Given the description of an element on the screen output the (x, y) to click on. 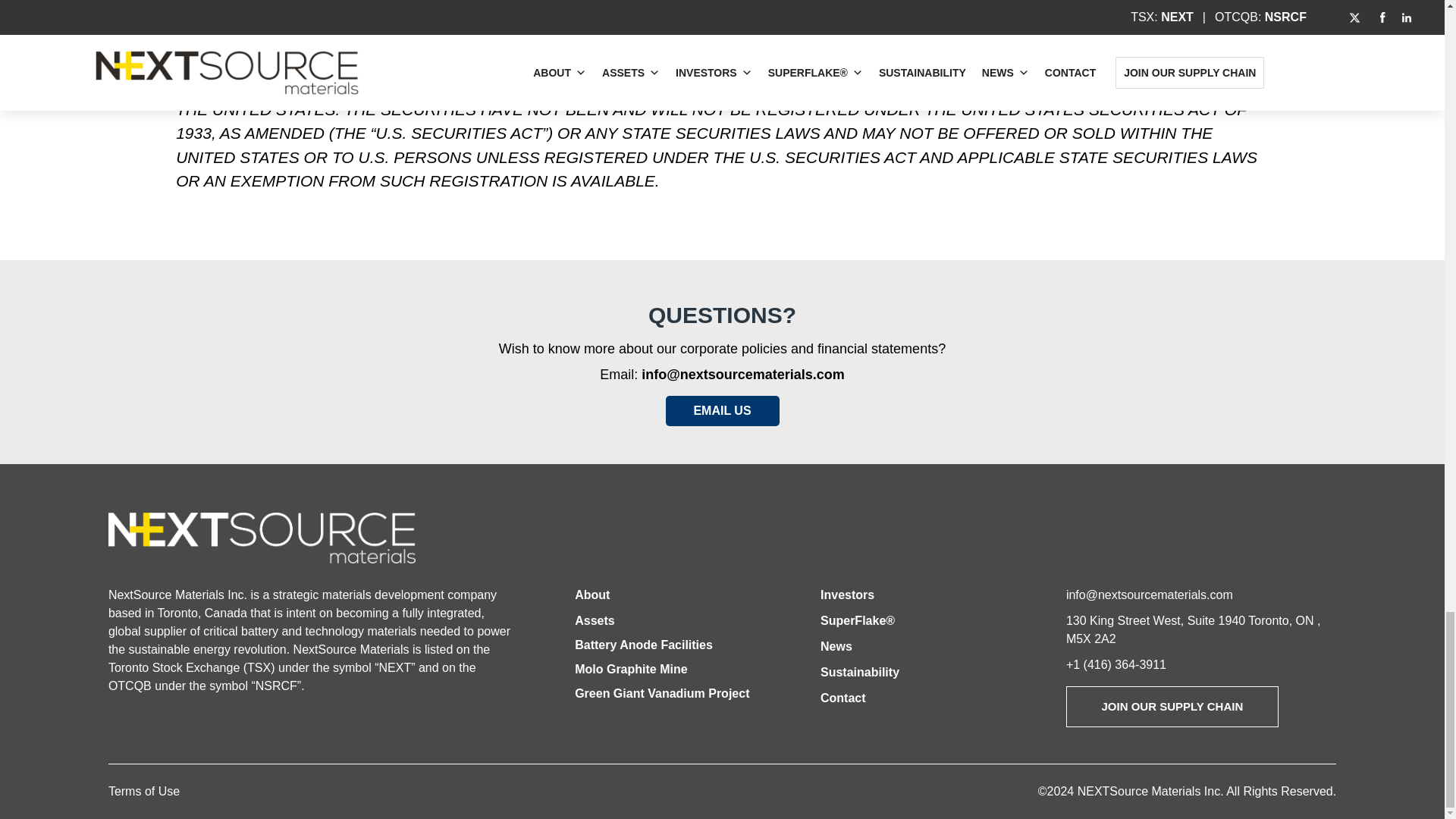
Assets (594, 620)
About (592, 594)
EMAIL US (721, 410)
